Given the description of an element on the screen output the (x, y) to click on. 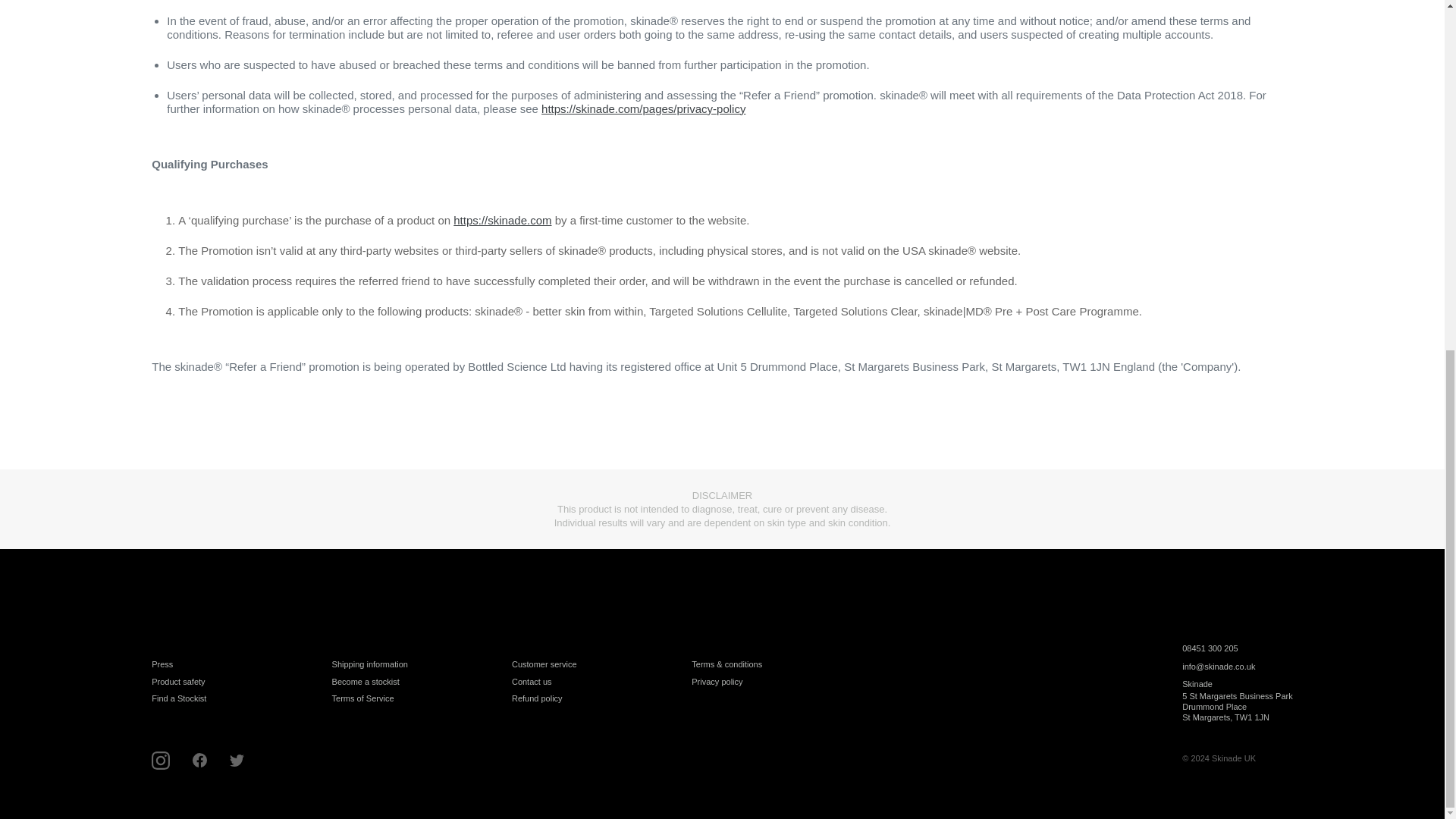
Press (162, 664)
Shipping information (369, 664)
Contact us (531, 681)
Customer service (544, 664)
Terms of Service (362, 697)
Become a stockist (364, 681)
Product safety (178, 681)
Refund policy (537, 697)
Find a Stockist (178, 697)
Privacy policy (716, 681)
